Given the description of an element on the screen output the (x, y) to click on. 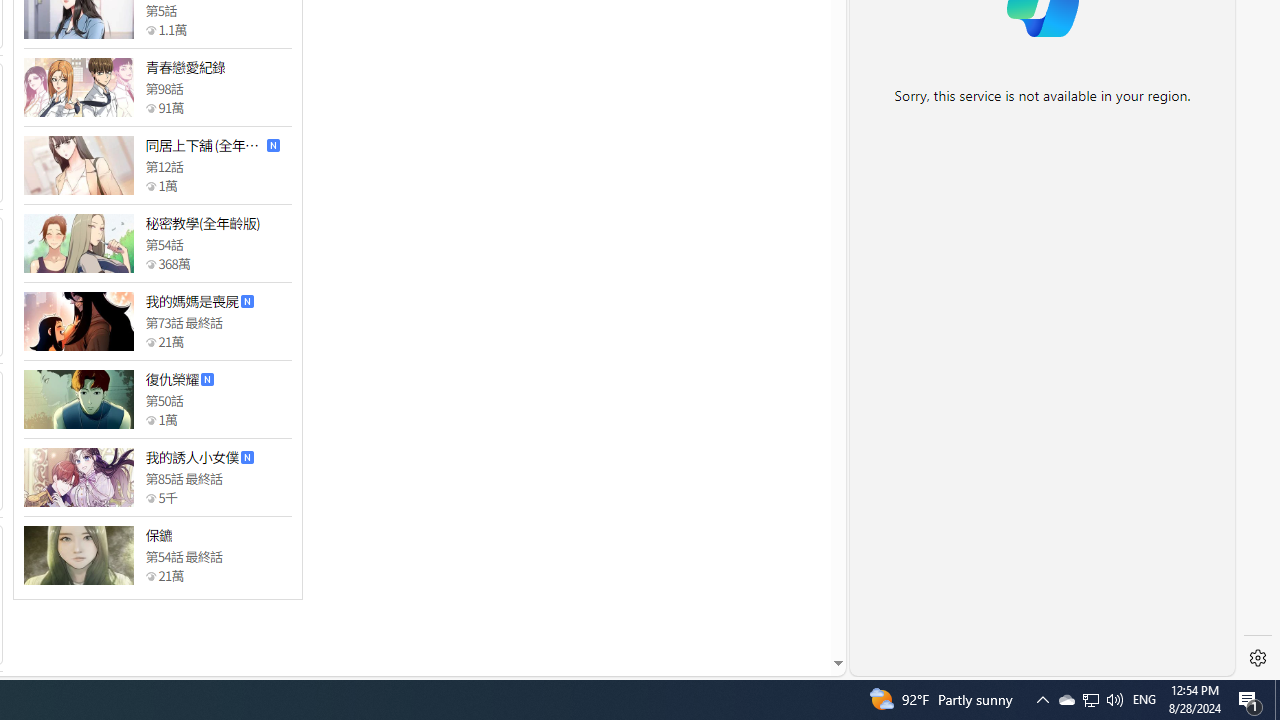
Class: thumb_img (78, 555)
